Given the description of an element on the screen output the (x, y) to click on. 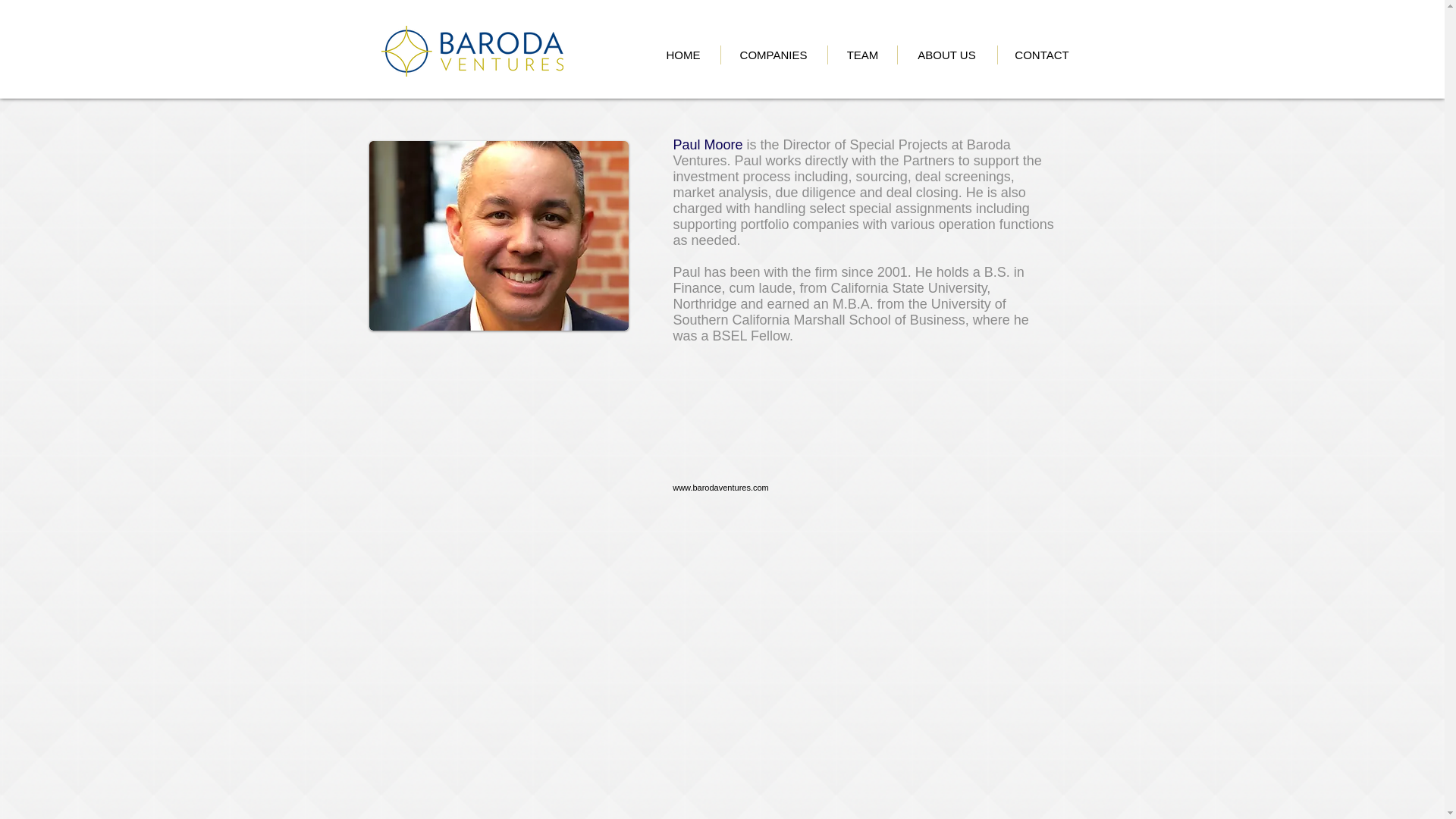
COMPANIES (773, 54)
www.barodaventures.com (720, 487)
ABOUT US (946, 54)
CONTACT (1040, 54)
TEAM (862, 54)
HOME (682, 54)
BarodaVenturesLogo (471, 50)
